Given the description of an element on the screen output the (x, y) to click on. 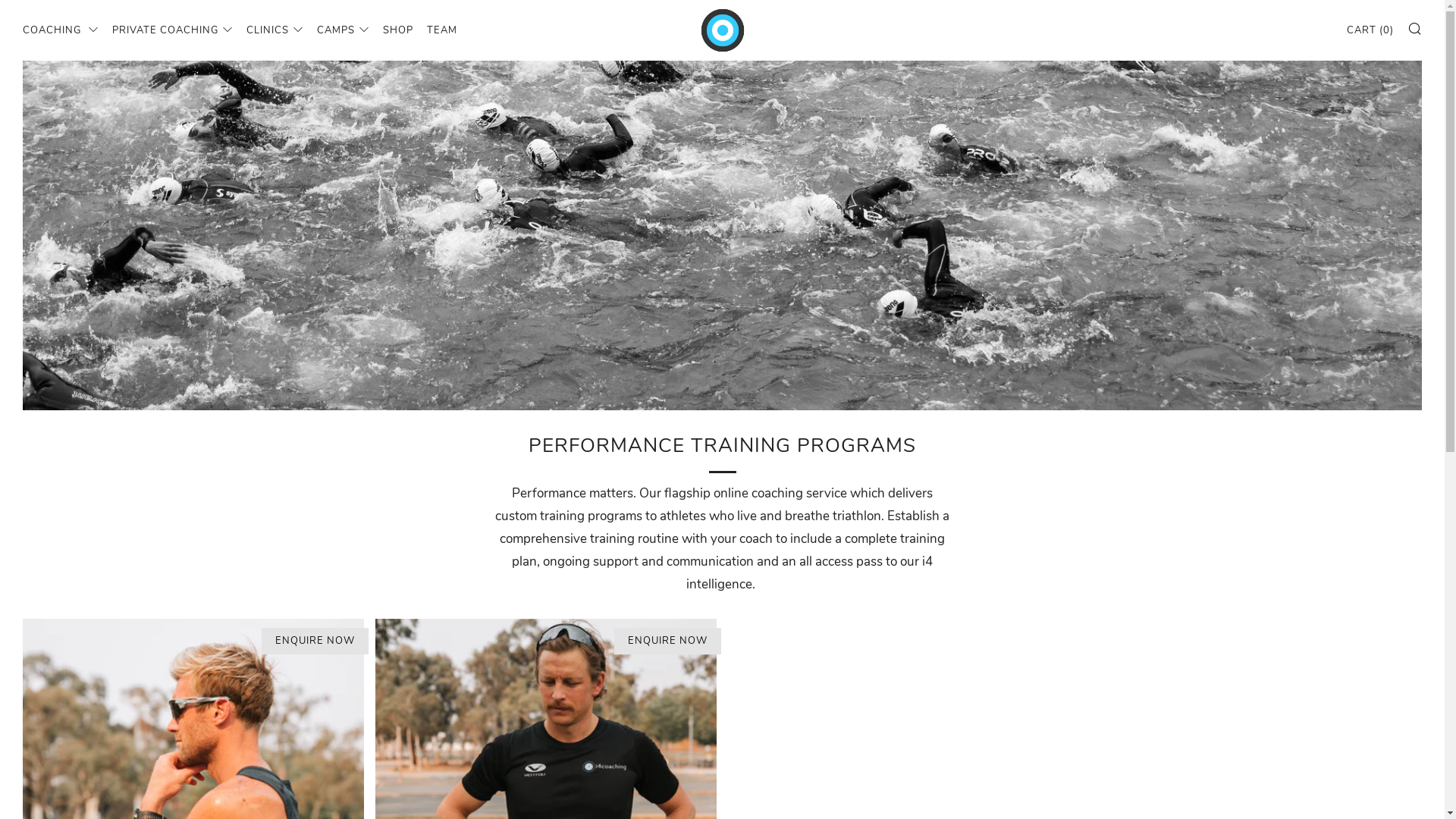
PRIVATE COACHING Element type: text (172, 30)
CLINICS Element type: text (274, 30)
CART (0) Element type: text (1369, 30)
TEAM Element type: text (441, 30)
SEARCH Element type: text (1414, 27)
CAMPS Element type: text (342, 30)
SHOP Element type: text (397, 30)
COACHING Element type: text (60, 30)
